Given the description of an element on the screen output the (x, y) to click on. 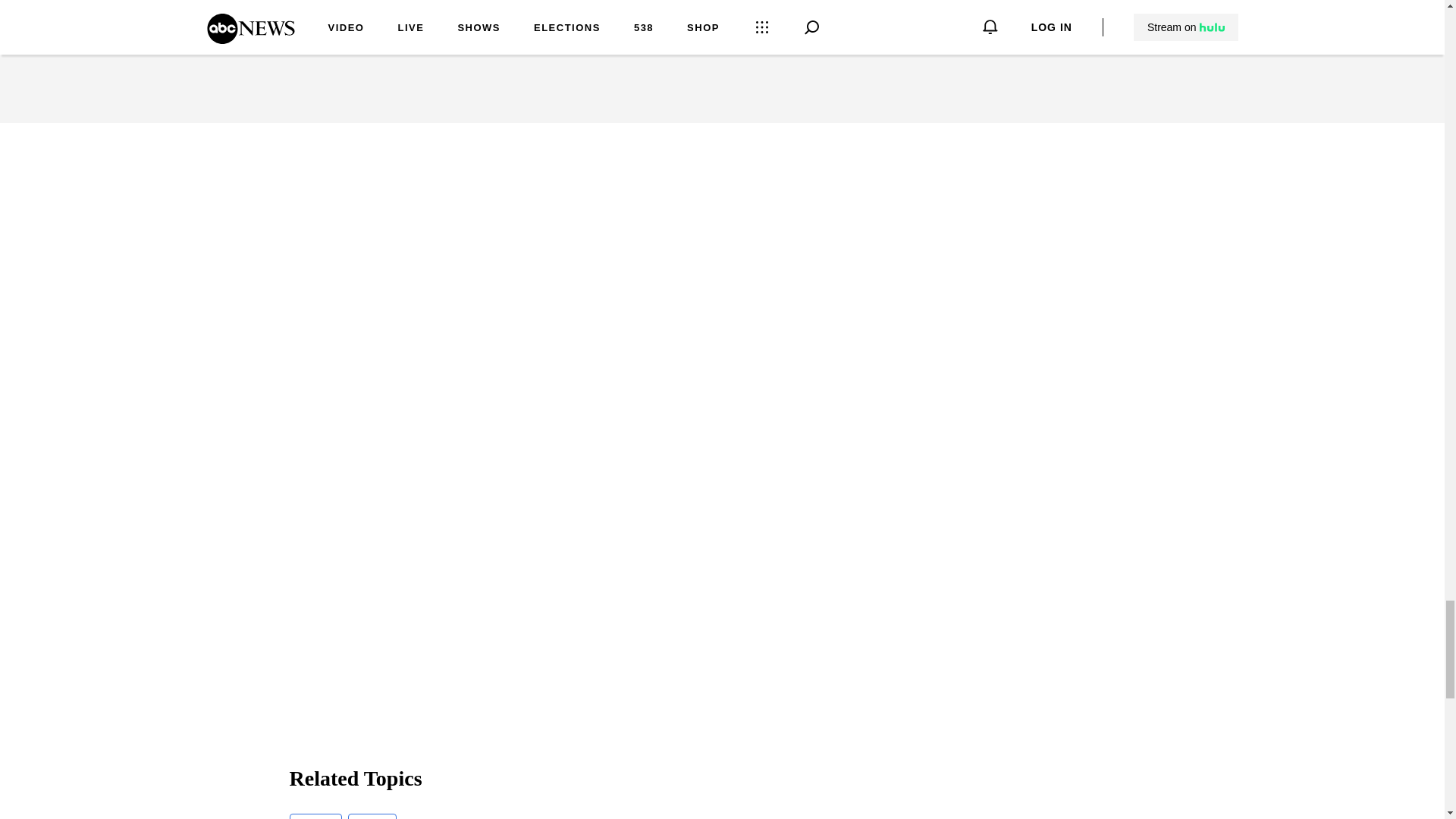
Taiwan (315, 816)
China (371, 816)
